Given the description of an element on the screen output the (x, y) to click on. 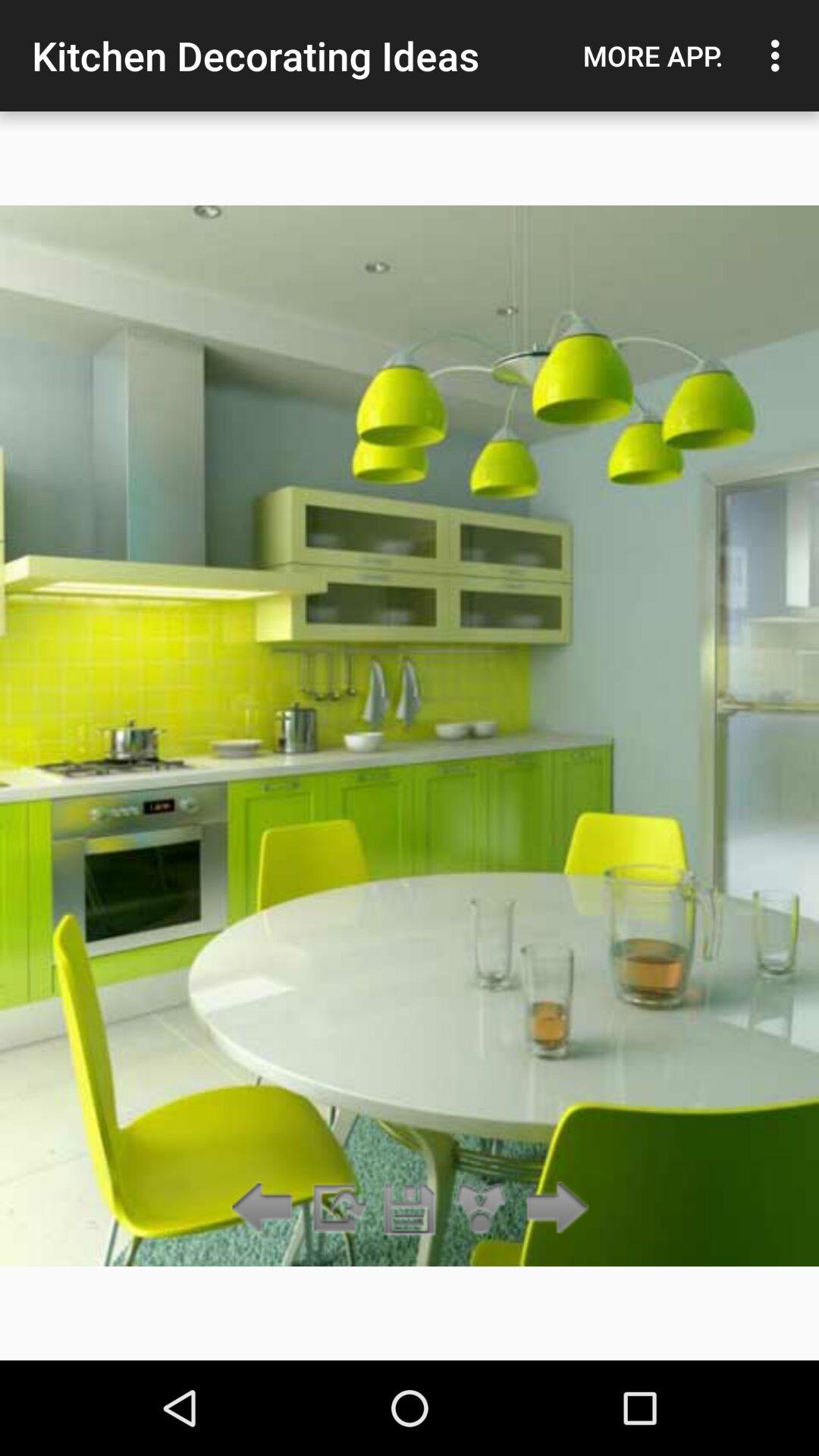
flip until more app. icon (653, 55)
